Given the description of an element on the screen output the (x, y) to click on. 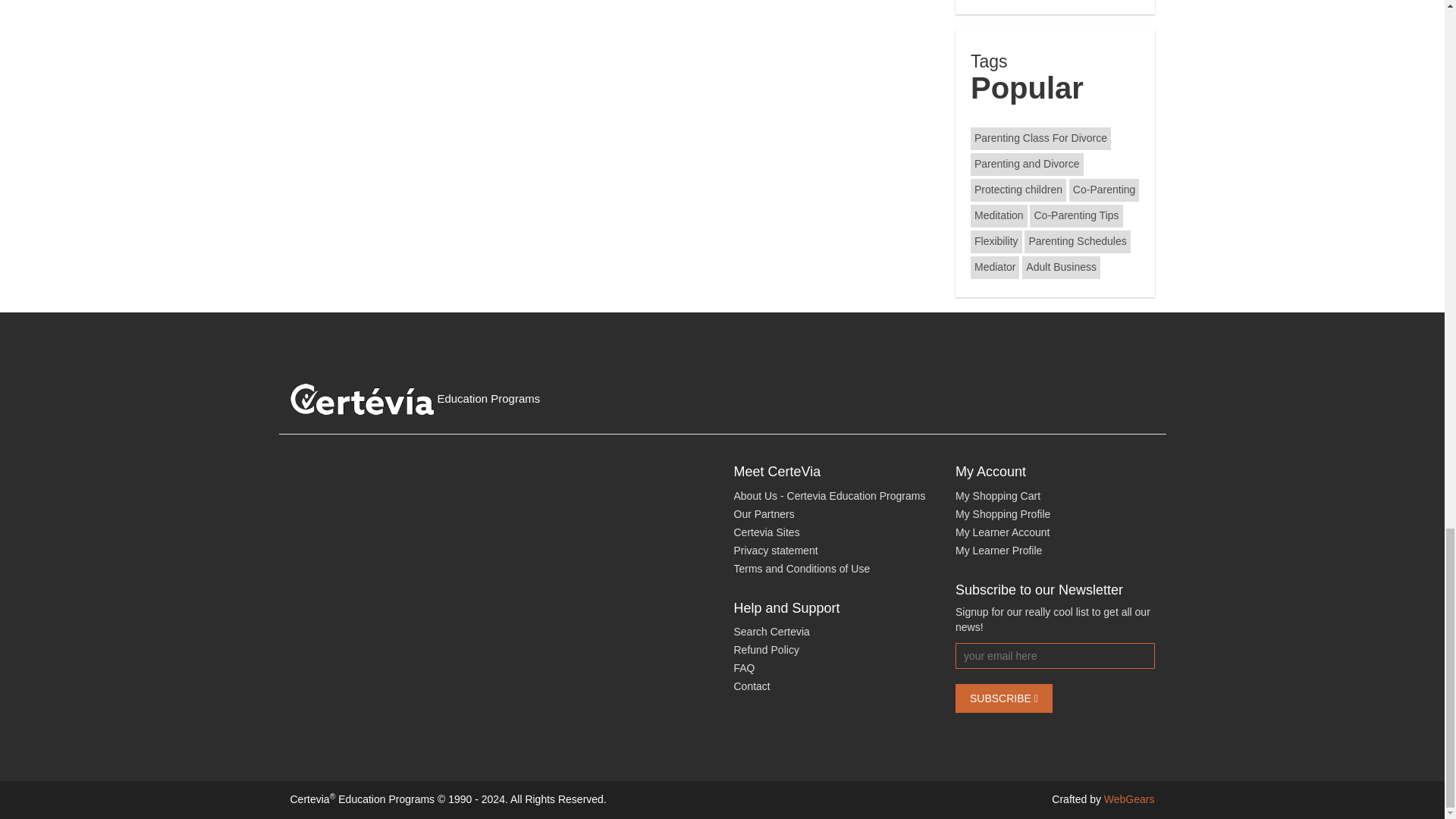
WebGears (1128, 799)
Please enter your best email address here (1054, 655)
